Given the description of an element on the screen output the (x, y) to click on. 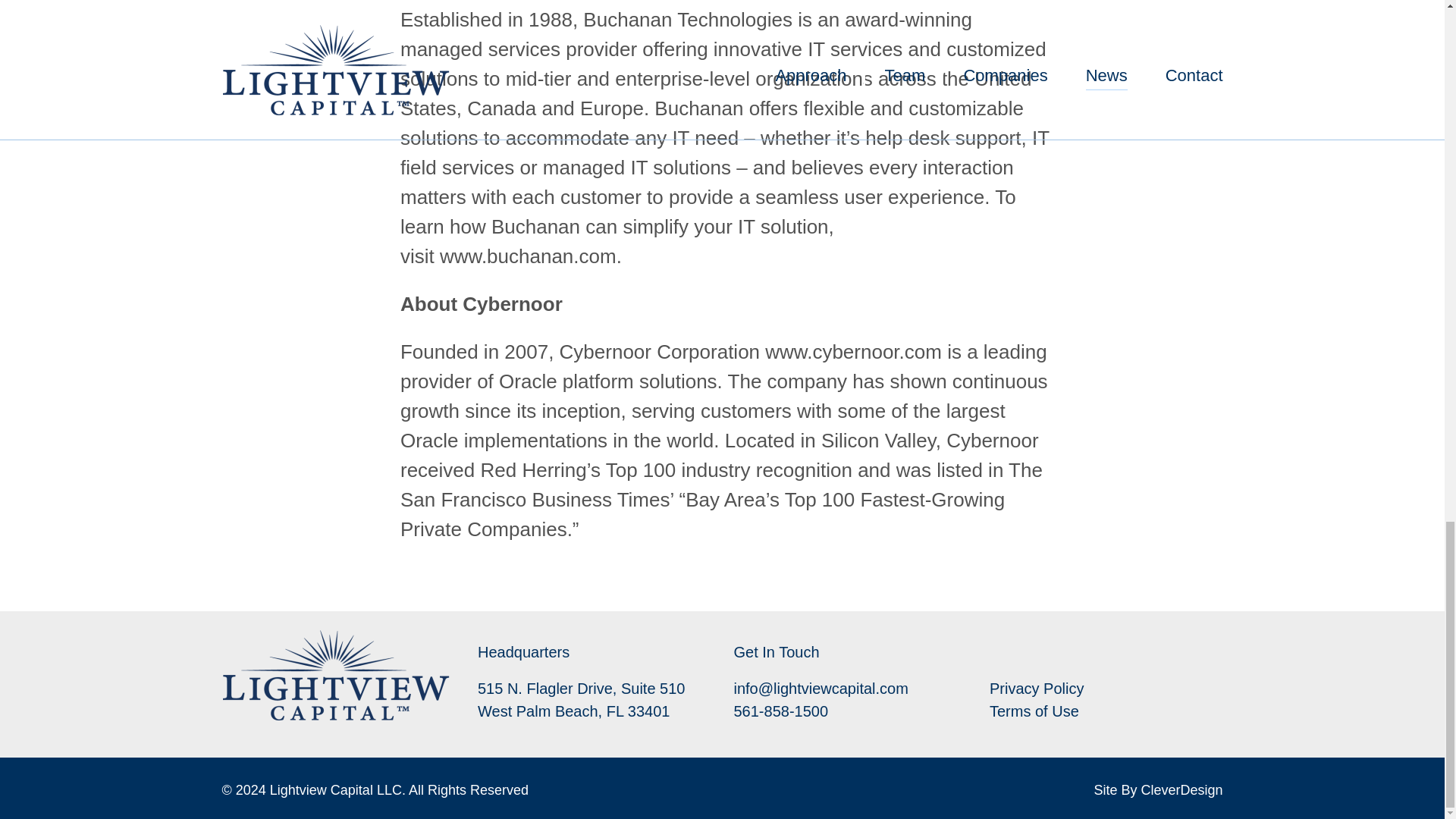
Terms of Use (1034, 710)
Site By CleverDesign (1158, 790)
Privacy Policy (1036, 688)
